Given the description of an element on the screen output the (x, y) to click on. 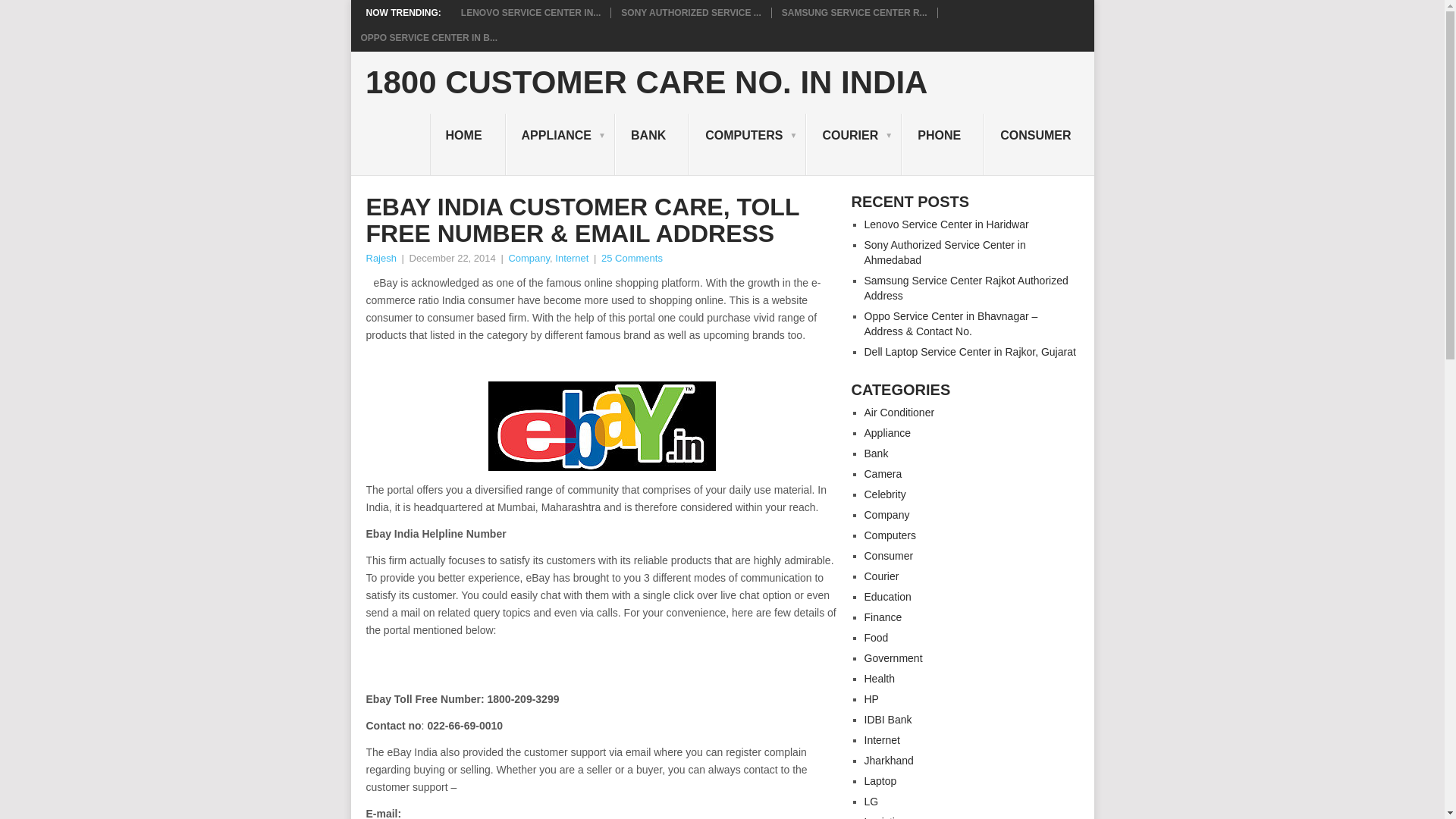
Internet (571, 257)
SONY AUTHORIZED SERVICE ... (690, 12)
PHONE (942, 144)
Lenovo Service Center in Haridwar (530, 12)
COMPUTERS (747, 144)
Rajesh (380, 257)
APPLIANCE (559, 144)
Posts by Rajesh (380, 257)
SAMSUNG SERVICE CENTER R... (854, 12)
HOME (467, 144)
